Given the description of an element on the screen output the (x, y) to click on. 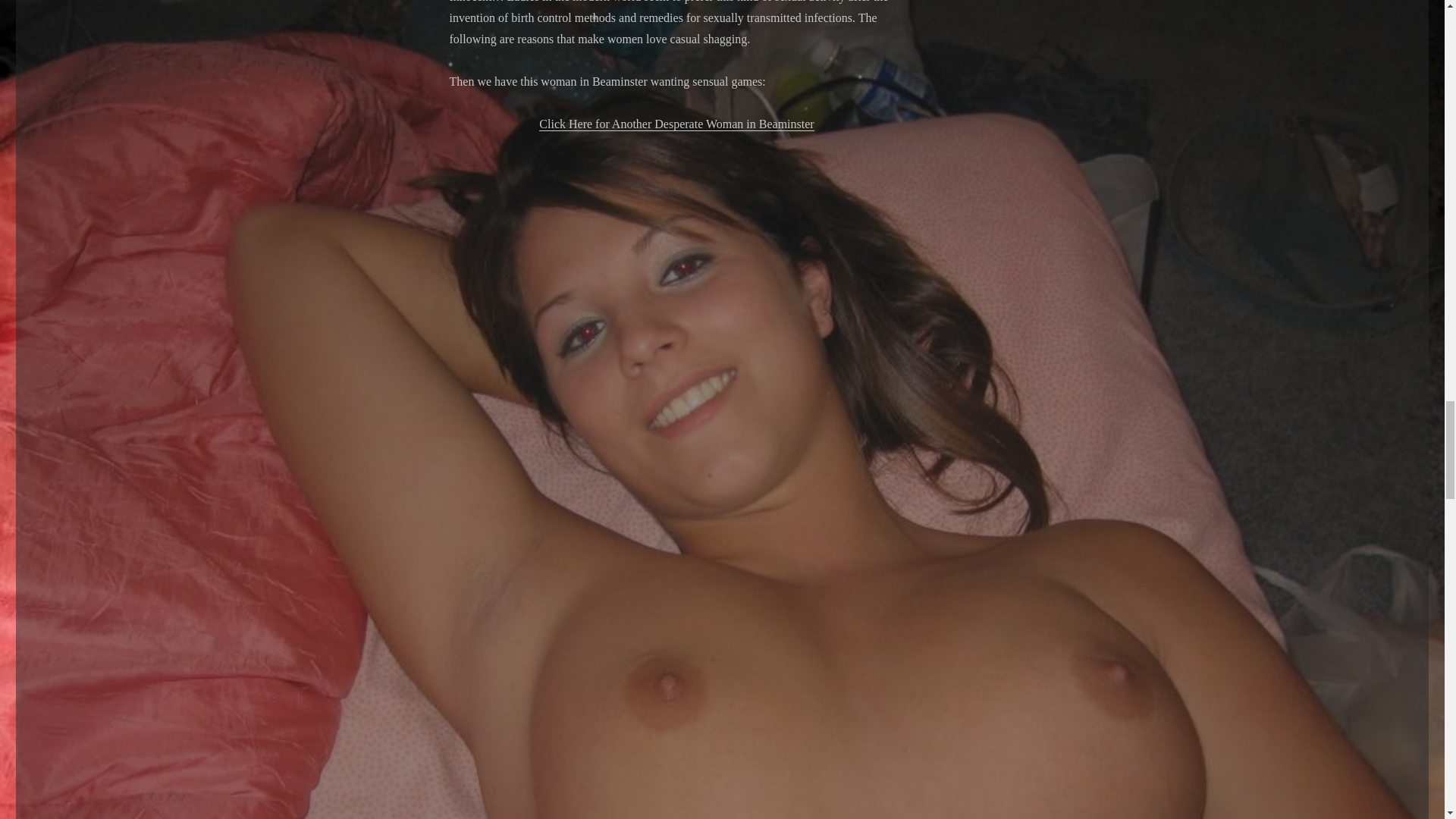
Click Here for Another Desperate Woman in Beaminster (675, 123)
